Given the description of an element on the screen output the (x, y) to click on. 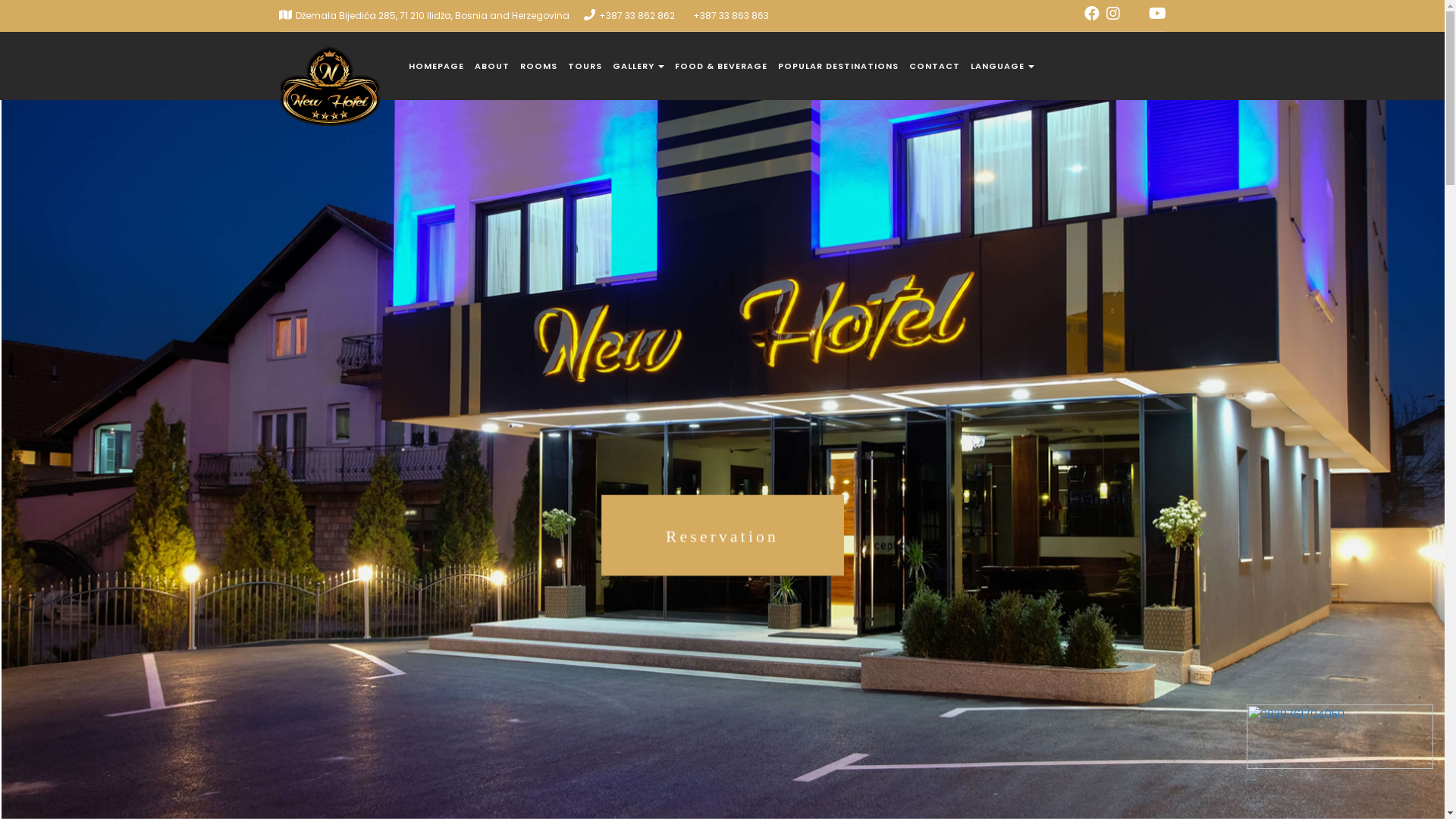
+387 33 862 862 Element type: text (636, 15)
GALLERY Element type: text (638, 65)
Reservation Element type: text (718, 535)
POPULAR DESTINATIONS Element type: text (838, 65)
ROOMS Element type: text (538, 65)
Reservation Element type: text (721, 580)
CONTACT Element type: text (933, 65)
HOMEPAGE Element type: text (435, 65)
FOOD & BEVERAGE Element type: text (720, 65)
New Hotel Element type: hover (322, 50)
TOURS Element type: text (584, 65)
LANGUAGE Element type: text (1002, 65)
ABOUT Element type: text (491, 65)
+387 33 863 863 Element type: text (730, 15)
0038761704050 Element type: hover (1339, 736)
